Given the description of an element on the screen output the (x, y) to click on. 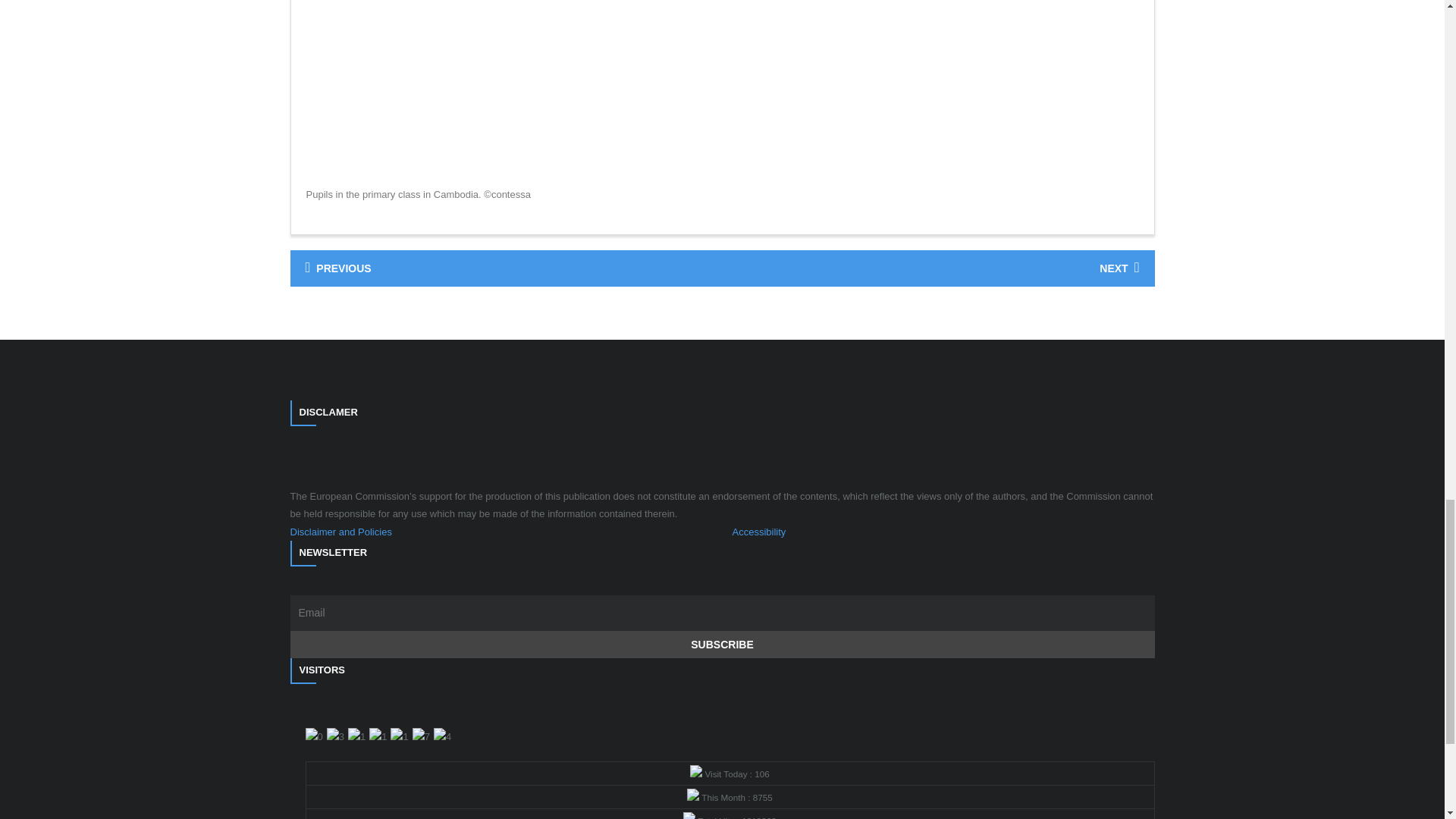
Subscribe (721, 644)
